Given the description of an element on the screen output the (x, y) to click on. 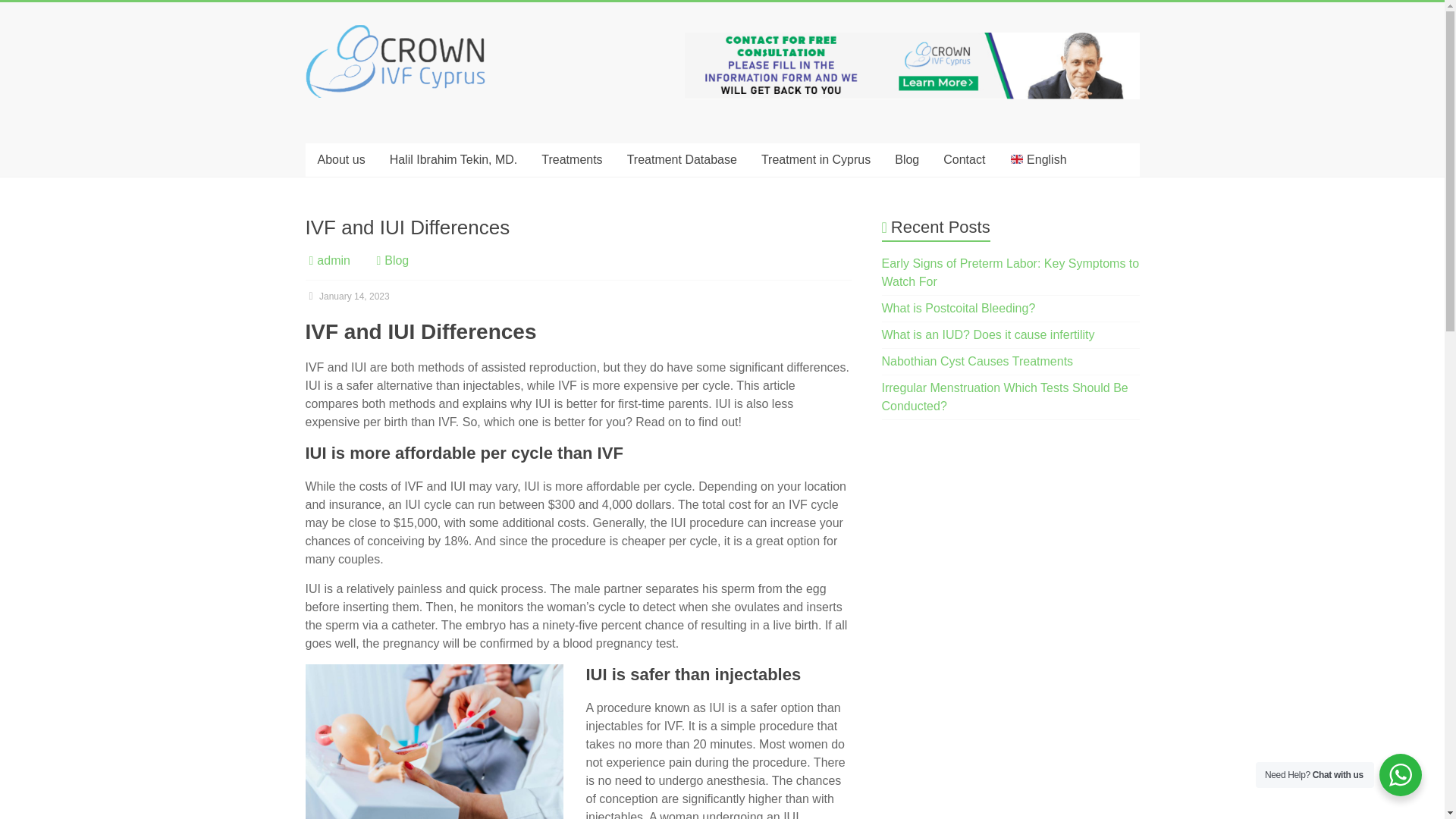
Treatments (571, 159)
admin (333, 259)
Halil Ibrahim Tekin, MD. (453, 159)
About us (340, 159)
Cyprus IVF Center (347, 73)
Cyprus IVF Center (347, 73)
10:53 am (346, 296)
Treatment Database (681, 159)
